Given the description of an element on the screen output the (x, y) to click on. 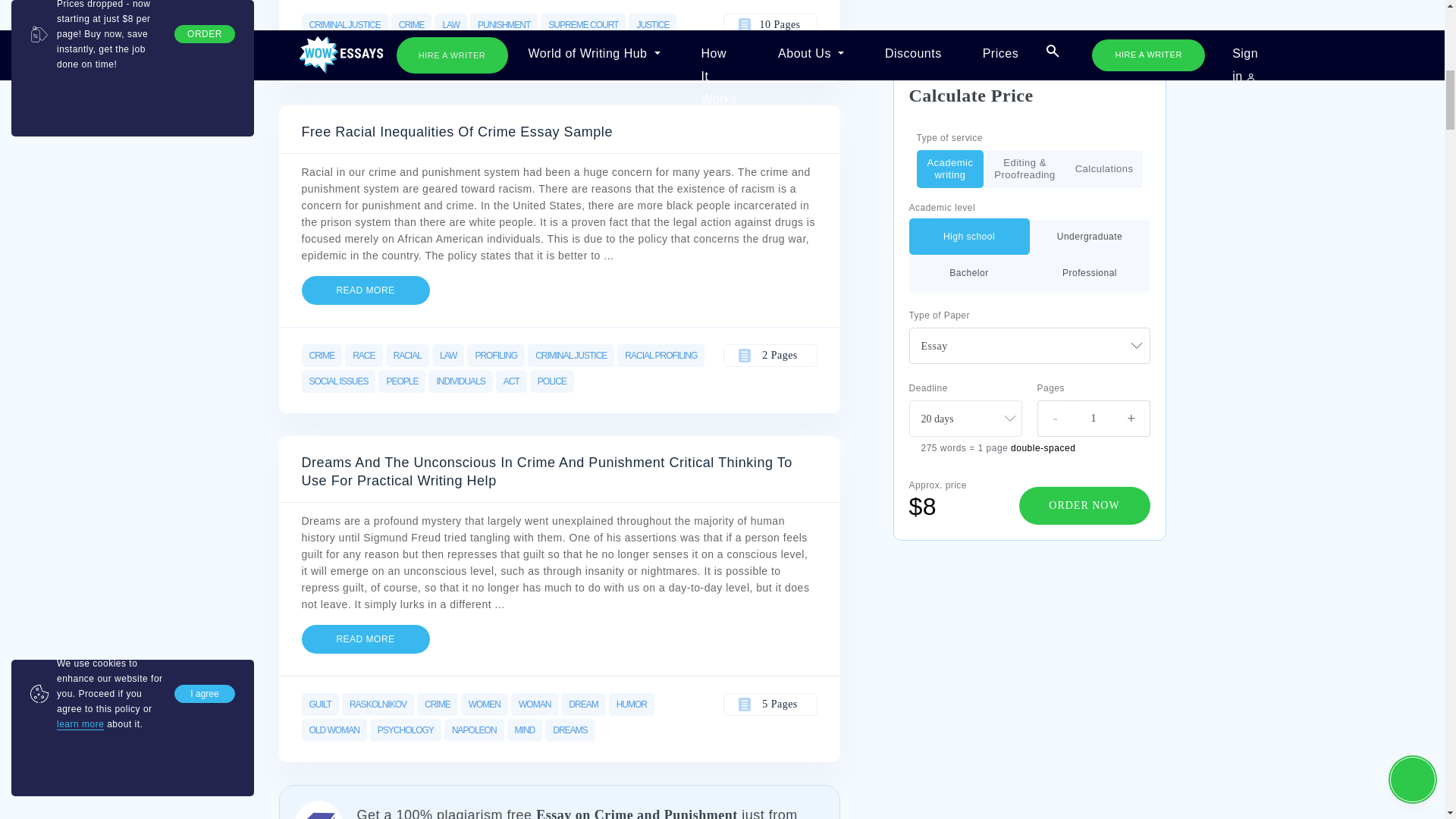
CRIMINAL JUSTICE (344, 24)
CRIME (411, 24)
